Given the description of an element on the screen output the (x, y) to click on. 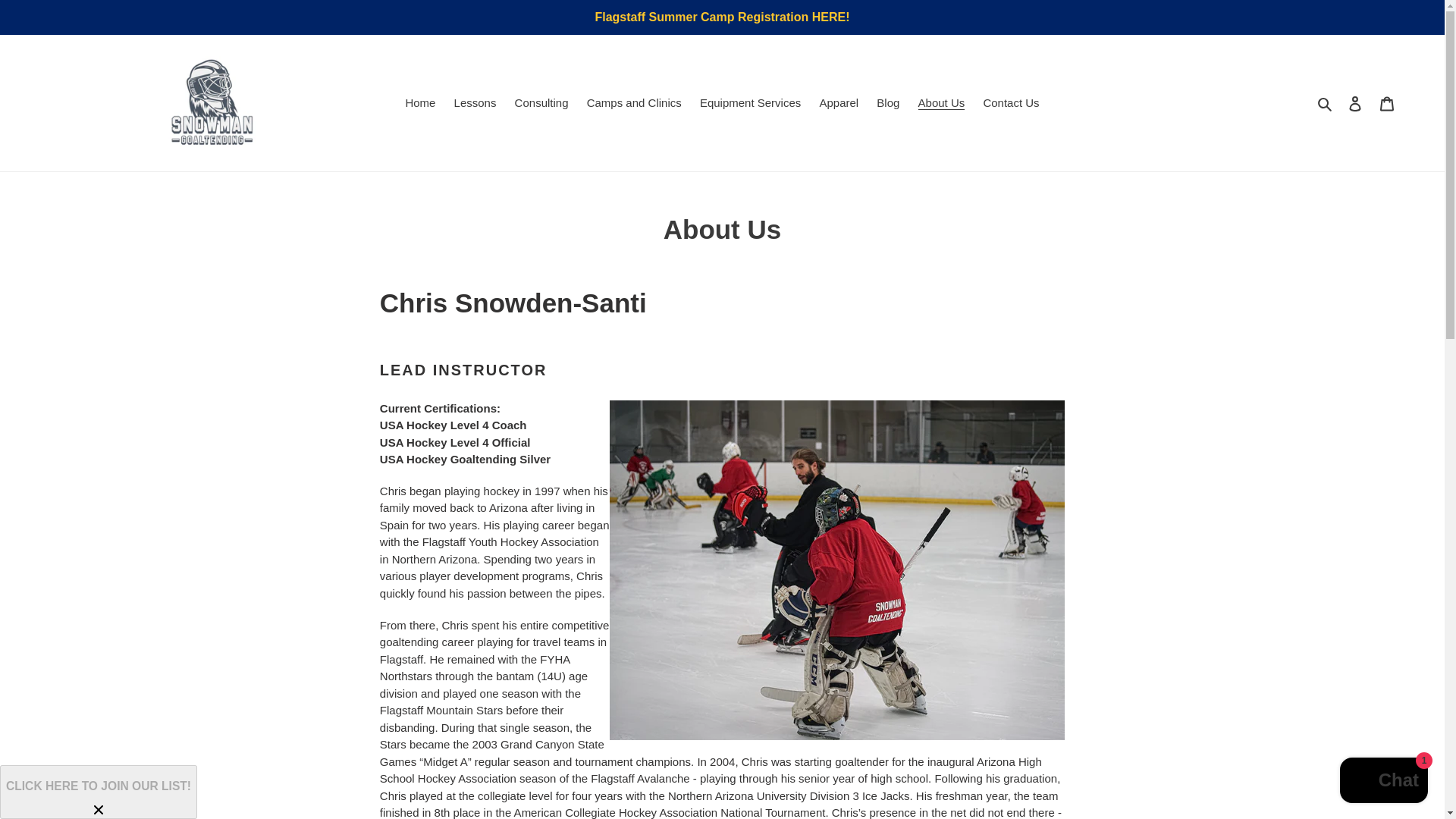
Log in (1355, 102)
About Us (941, 103)
Home (419, 103)
Camps and Clinics (633, 103)
Shopify online store chat (1383, 781)
Contact Us (1010, 103)
Blog (888, 103)
Search (1326, 103)
Apparel (838, 103)
Lessons (474, 103)
Cart (1387, 102)
Consulting (541, 103)
Equipment Services (750, 103)
